Given the description of an element on the screen output the (x, y) to click on. 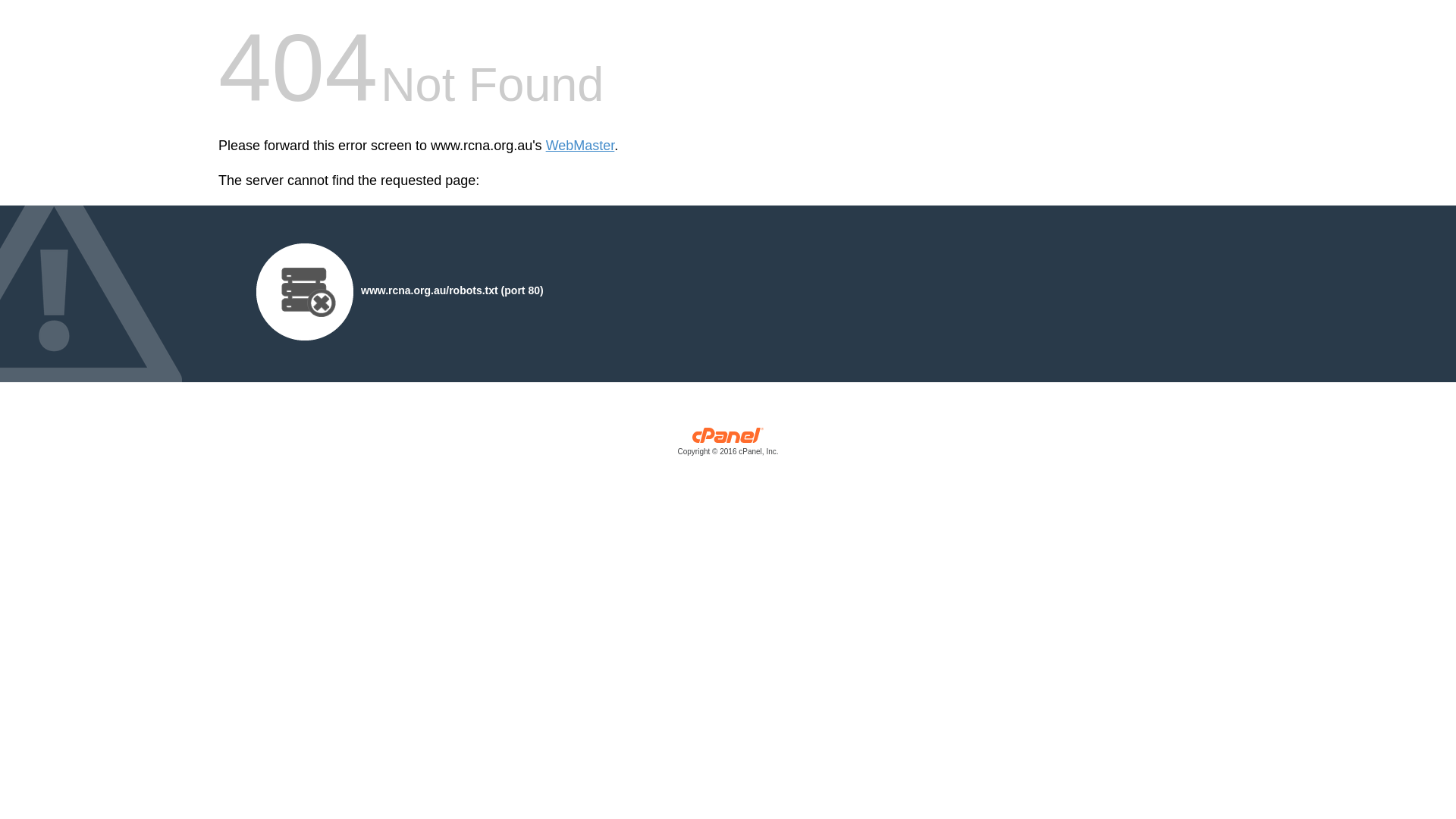
WebMaster Element type: text (580, 145)
